Given the description of an element on the screen output the (x, y) to click on. 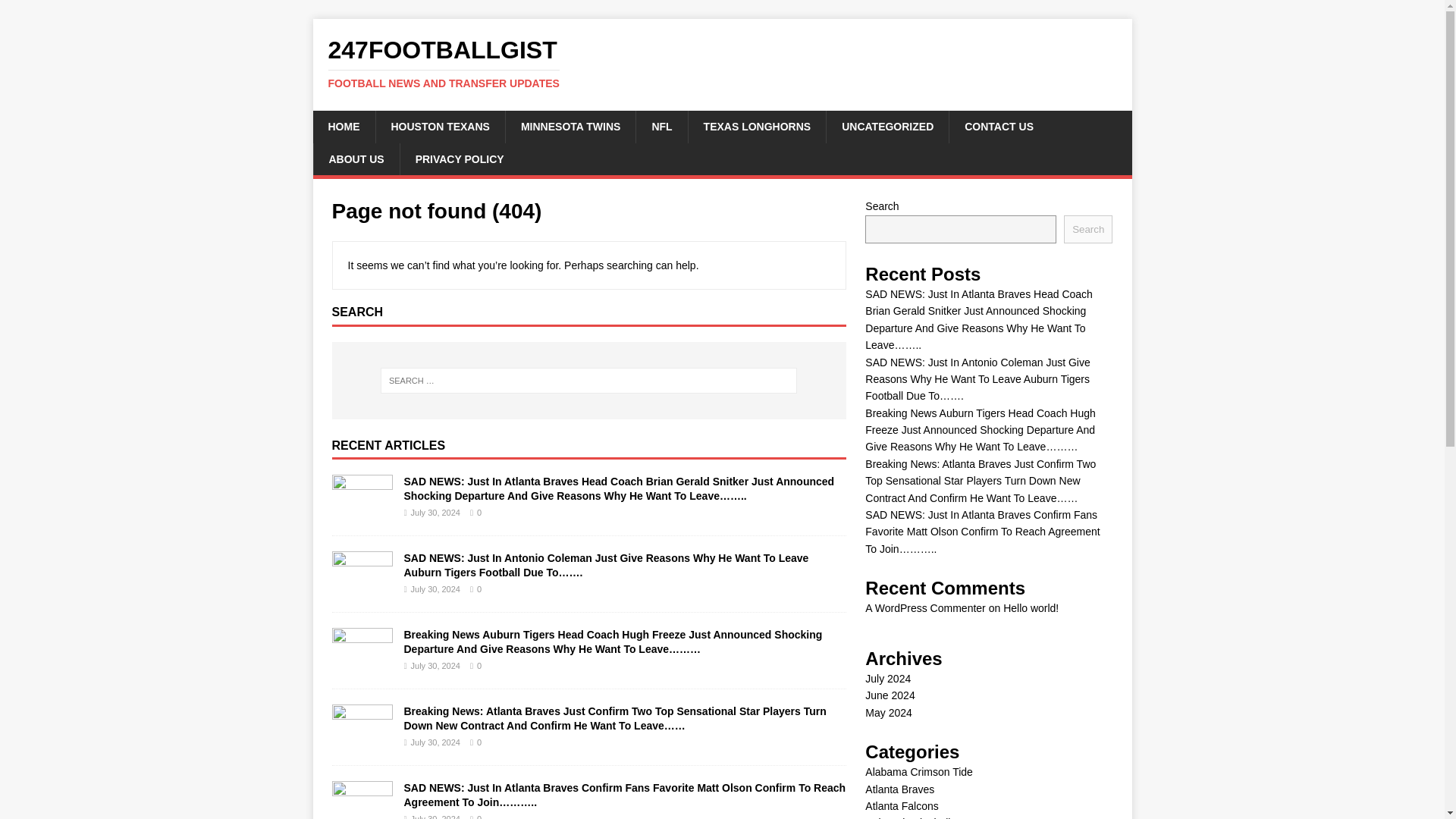
HOME (343, 126)
ABOUT US (355, 159)
Search (56, 11)
HOUSTON TEXANS (438, 126)
247footballgist (721, 63)
Search (1088, 229)
UNCATEGORIZED (887, 126)
TEXAS LONGHORNS (757, 126)
CONTACT US (721, 63)
PRIVACY POLICY (998, 126)
NFL (458, 159)
MINNESOTA TWINS (660, 126)
